Given the description of an element on the screen output the (x, y) to click on. 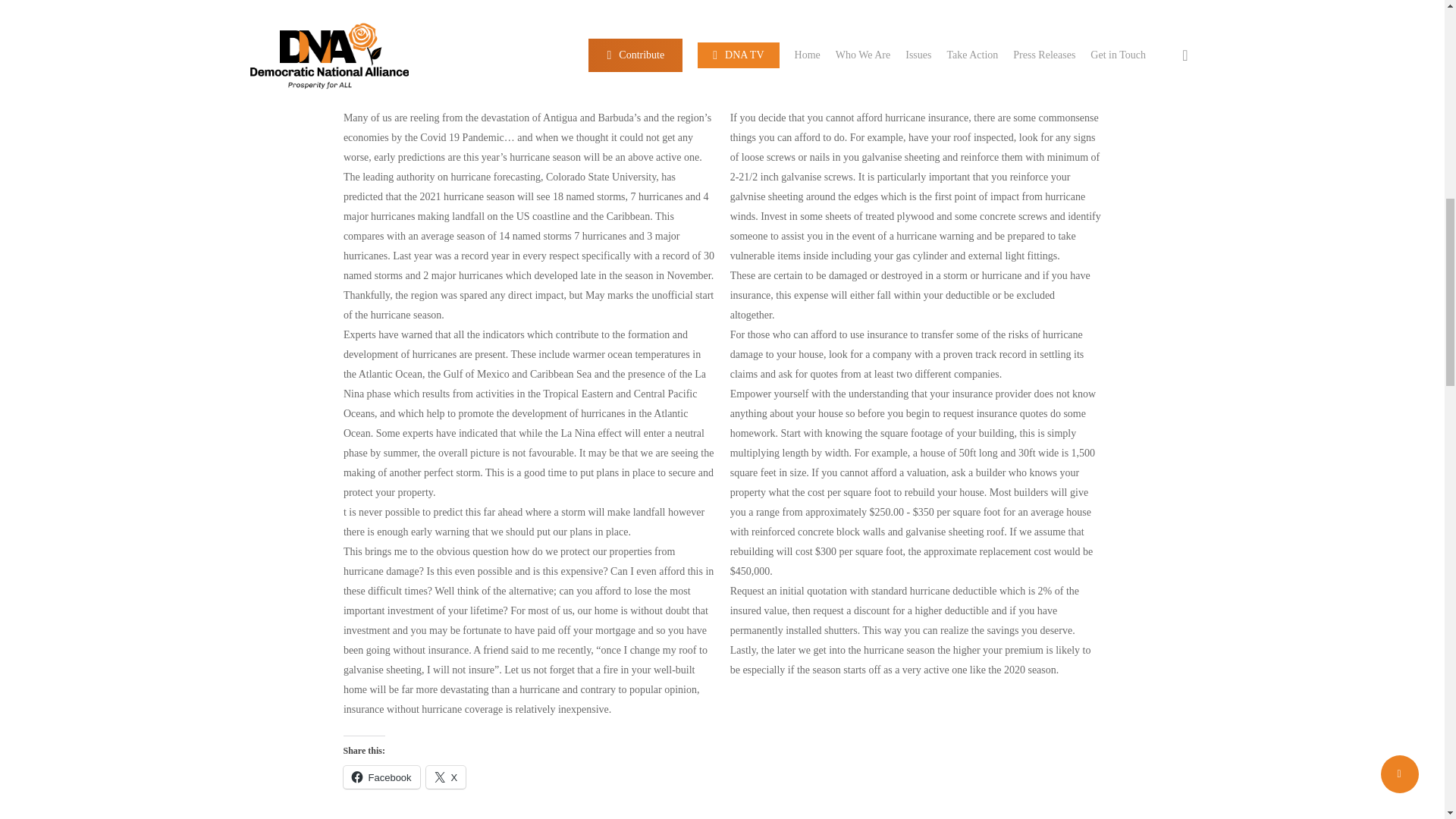
Click to share on X (445, 776)
Facebook (380, 776)
X (445, 776)
Click to share on Facebook (380, 776)
